Given the description of an element on the screen output the (x, y) to click on. 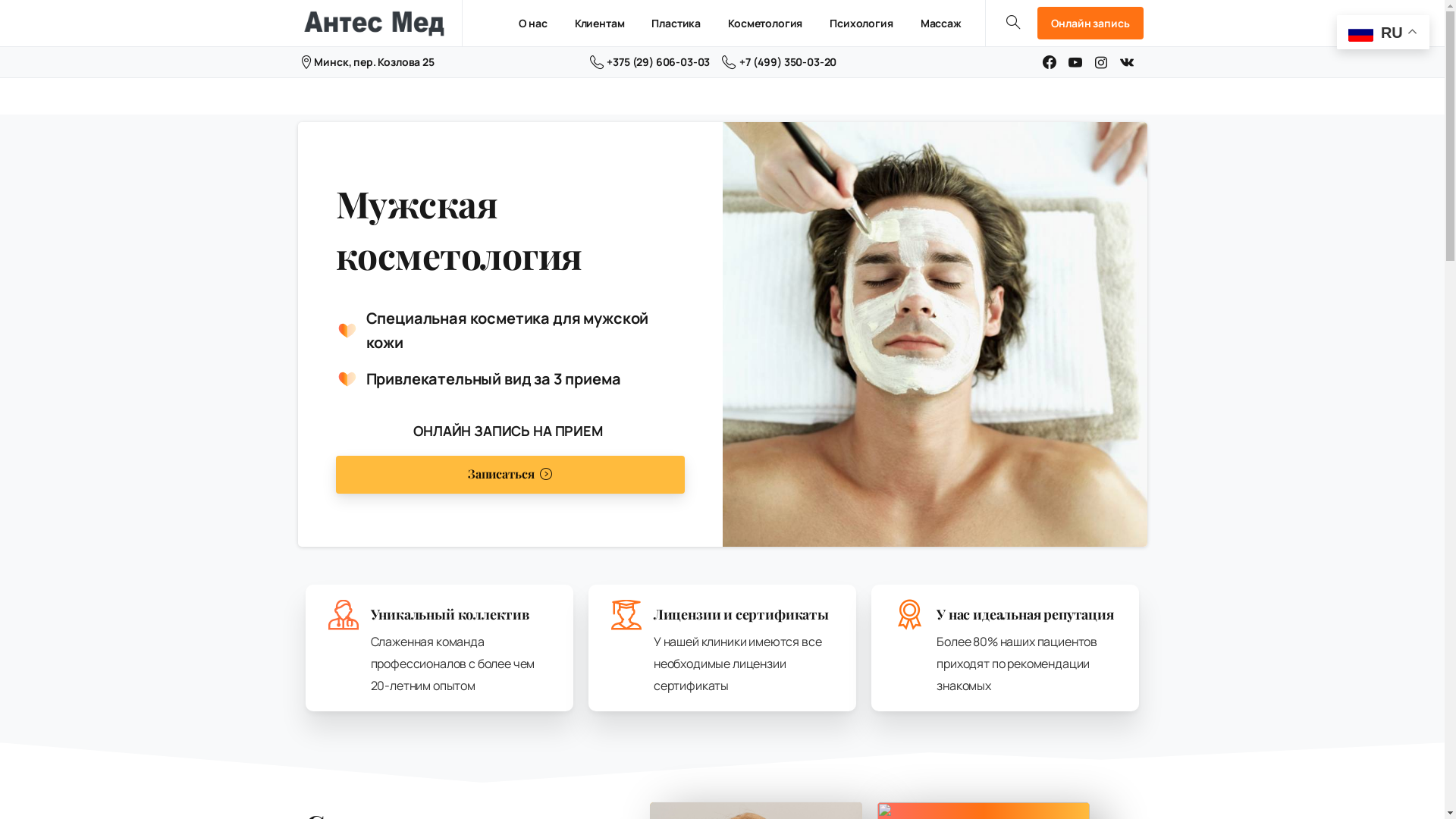
instagram Element type: hover (1100, 62)
youtube Element type: hover (1075, 62)
+375 (29) 606-03-03 Element type: text (649, 61)
VK Element type: hover (1126, 62)
+7 (499) 350-03-20 Element type: text (778, 61)
Facebook Element type: hover (1049, 62)
